Given the description of an element on the screen output the (x, y) to click on. 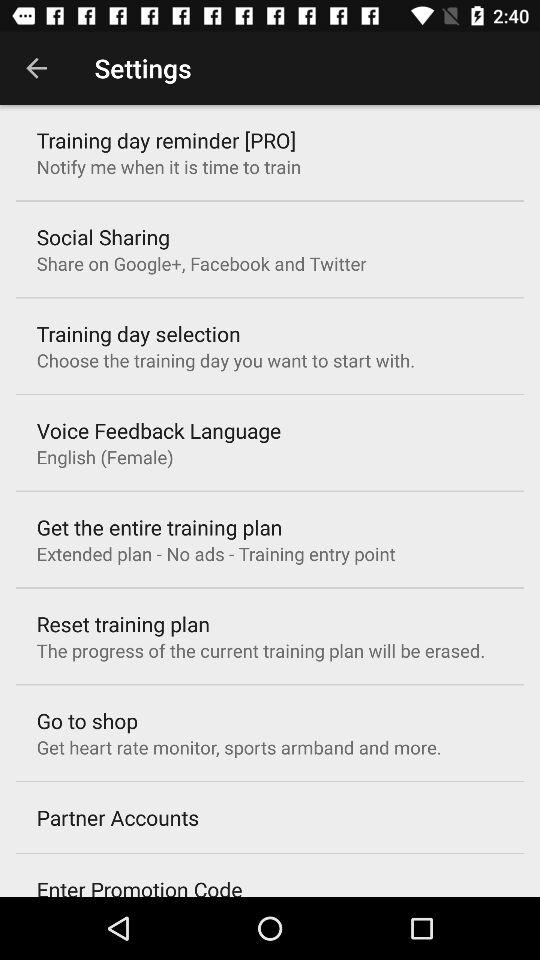
press the app to the left of settings (36, 68)
